Given the description of an element on the screen output the (x, y) to click on. 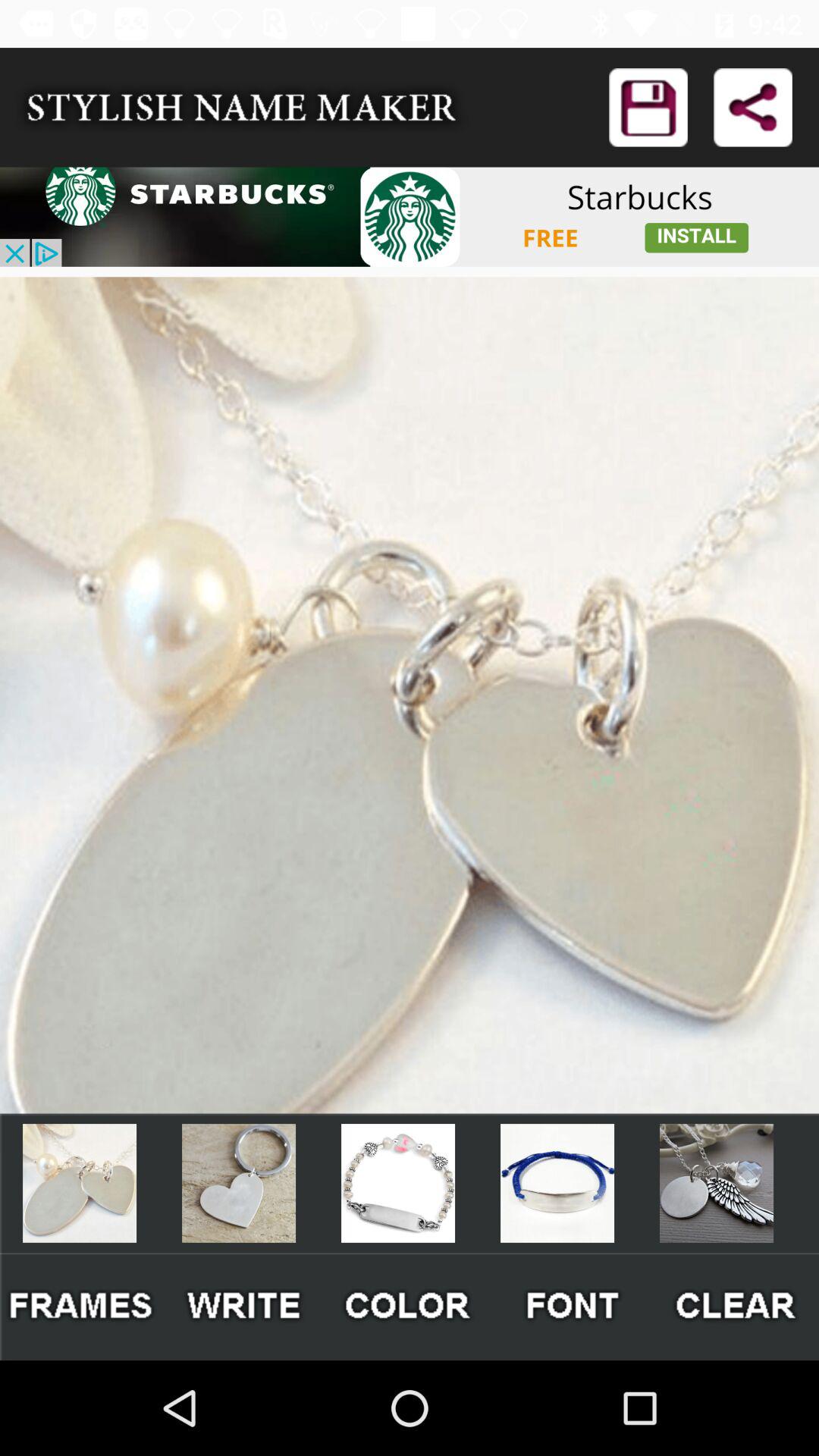
font checking (573, 1306)
